Given the description of an element on the screen output the (x, y) to click on. 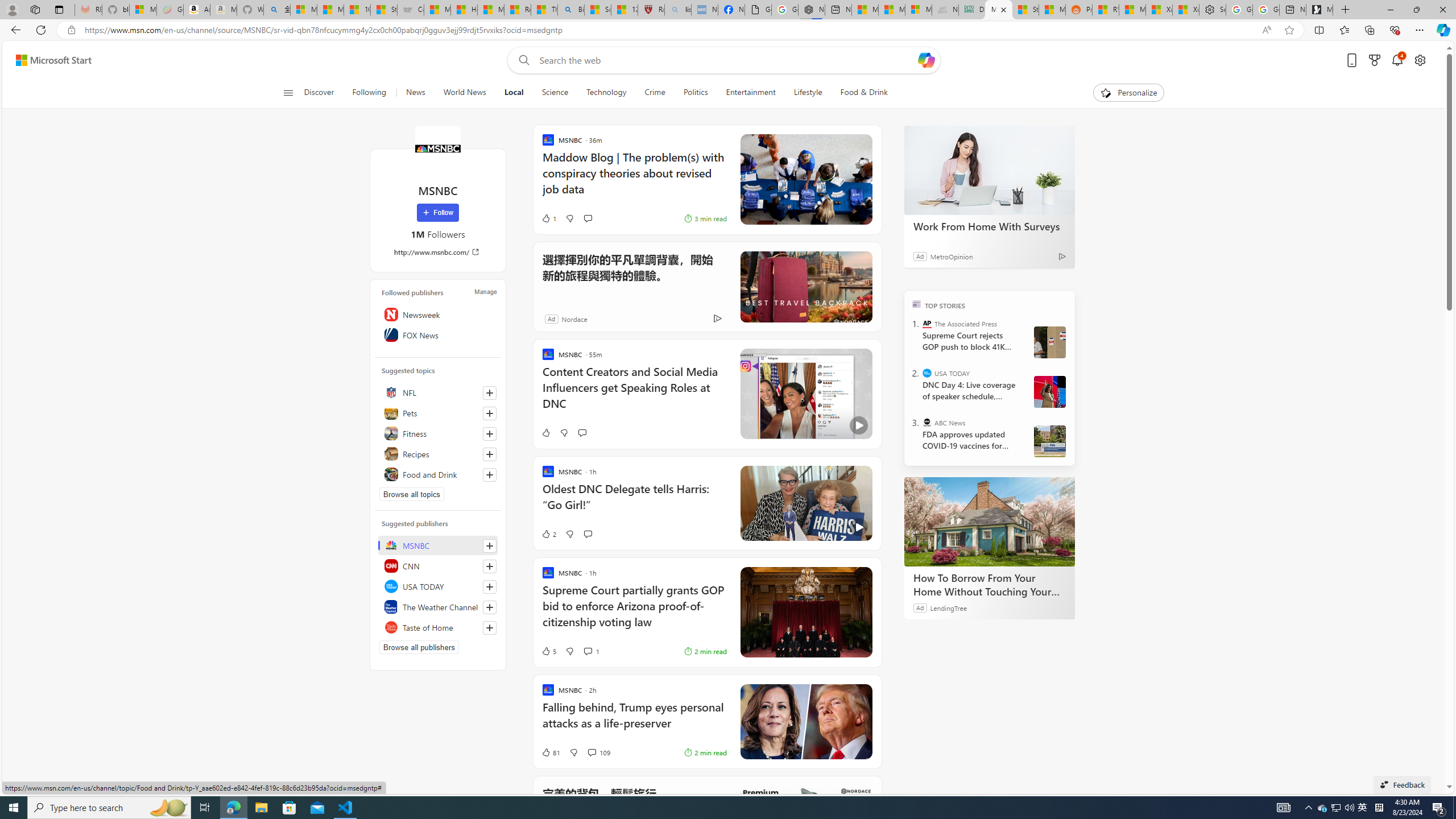
Work From Home With Surveys (988, 226)
NFL (437, 392)
LendingTree (948, 607)
CNN (437, 565)
2 Like (547, 533)
81 Like (549, 752)
FOX News (437, 334)
The Weather Channel (437, 606)
